Given the description of an element on the screen output the (x, y) to click on. 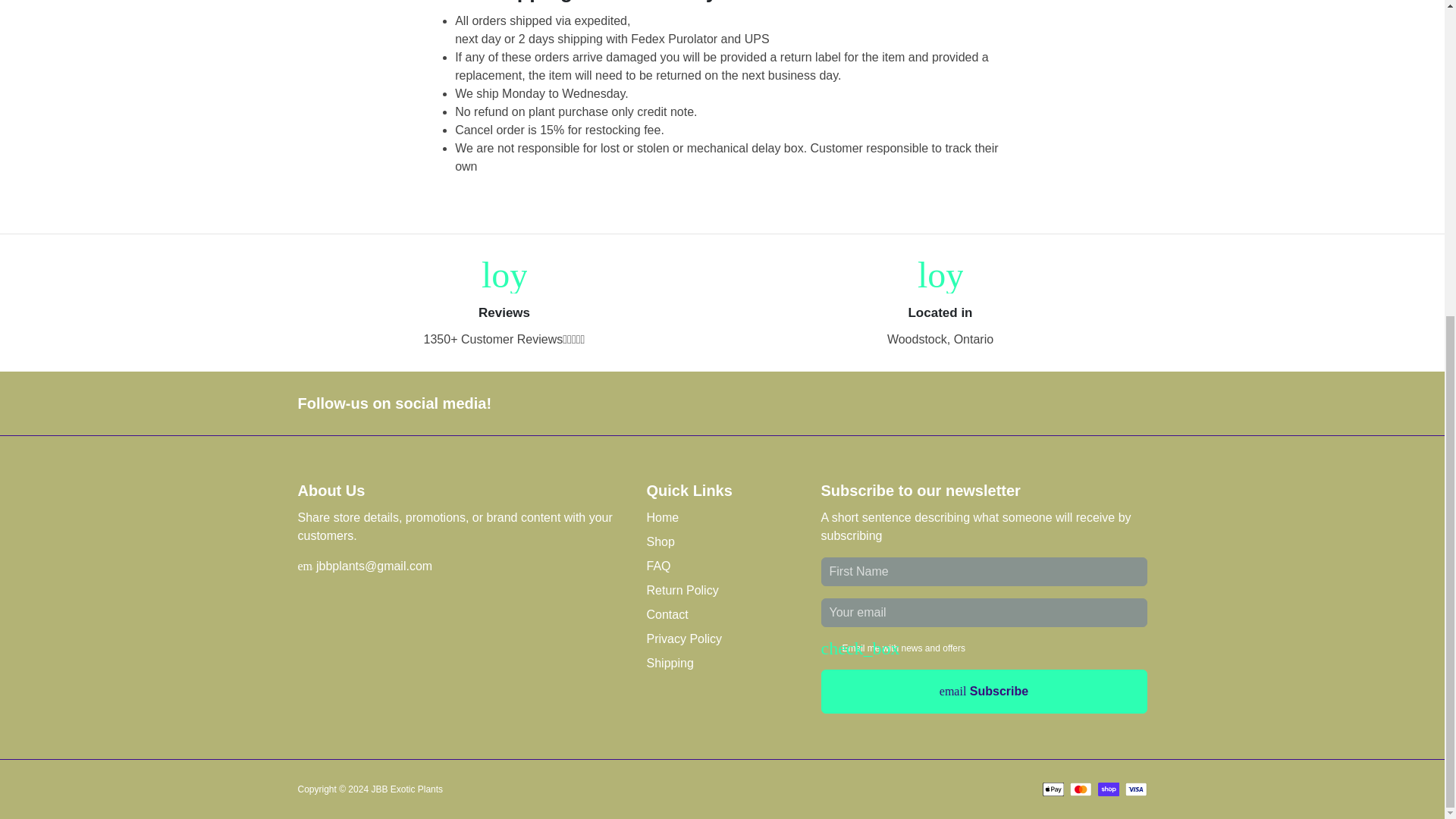
Visa (1136, 789)
Apple Pay (1052, 789)
Shop Pay (1108, 789)
Mastercard (1081, 789)
